Given the description of an element on the screen output the (x, y) to click on. 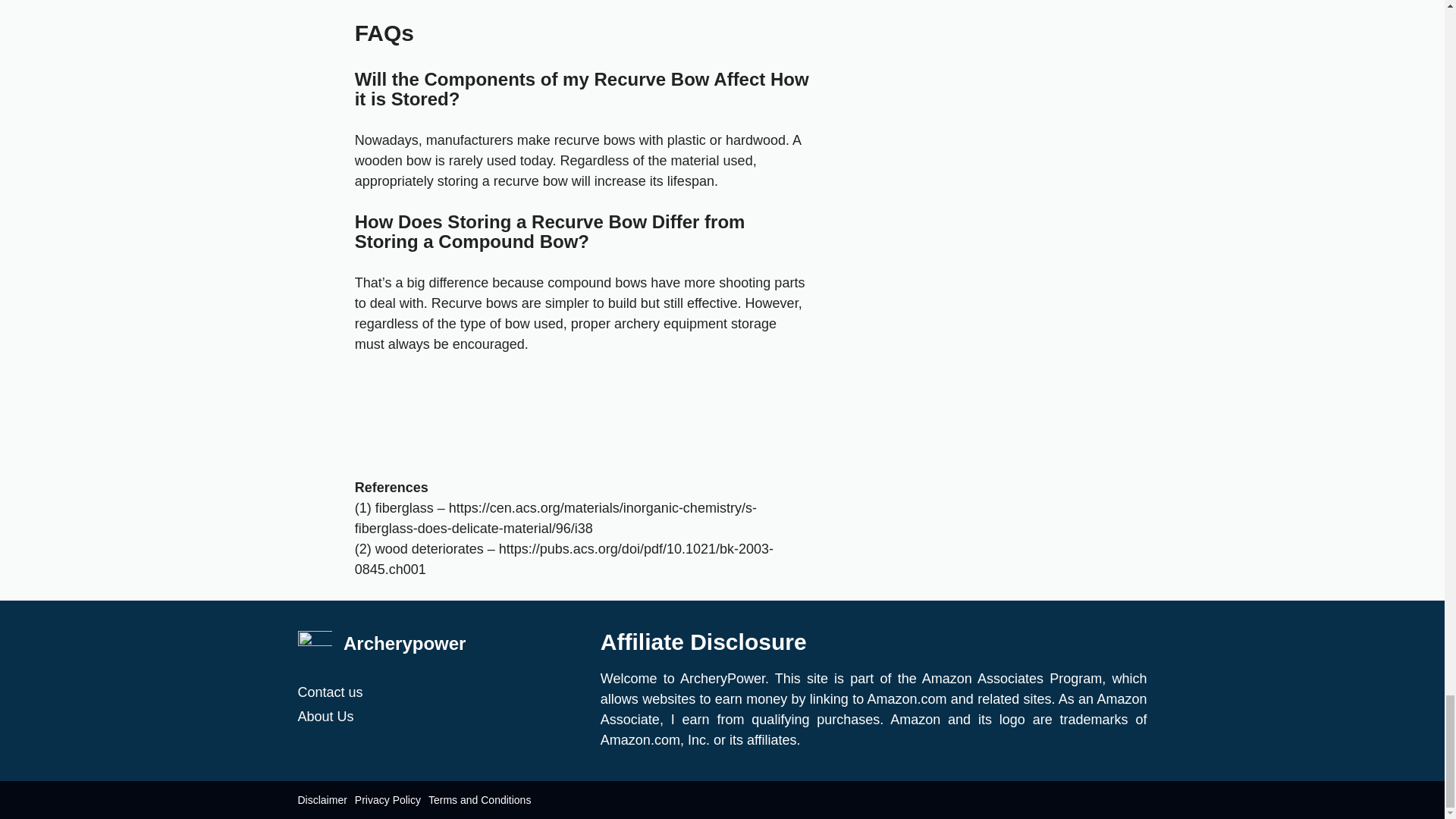
Archerypower (404, 643)
Terms and Conditions (479, 799)
Disclaimer (321, 799)
Contact us (441, 692)
About Us (441, 716)
Privacy Policy (387, 799)
